Given the description of an element on the screen output the (x, y) to click on. 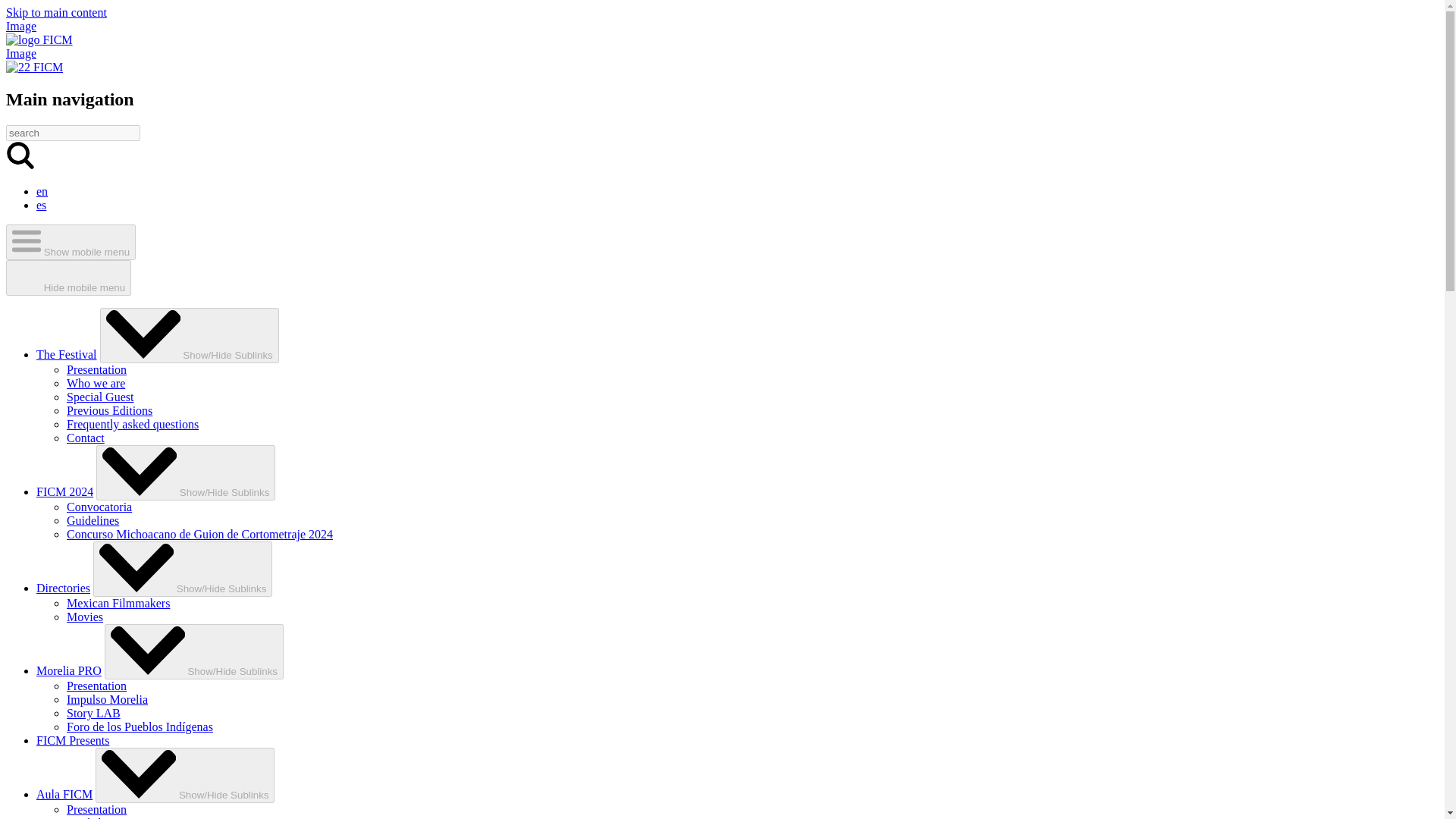
Frequently asked questions (132, 423)
Convocatoria (99, 506)
Impulso Morelia (107, 698)
Aula FICM (64, 793)
Previous Editions (109, 410)
The Festival (66, 354)
Presentation (96, 809)
Presentation (96, 685)
Movies (84, 616)
FICM Presents (72, 739)
FICM 2024 (64, 491)
Mexican Filmmakers (118, 603)
Workshops (93, 817)
Story LAB (93, 712)
Guidelines (92, 520)
